Given the description of an element on the screen output the (x, y) to click on. 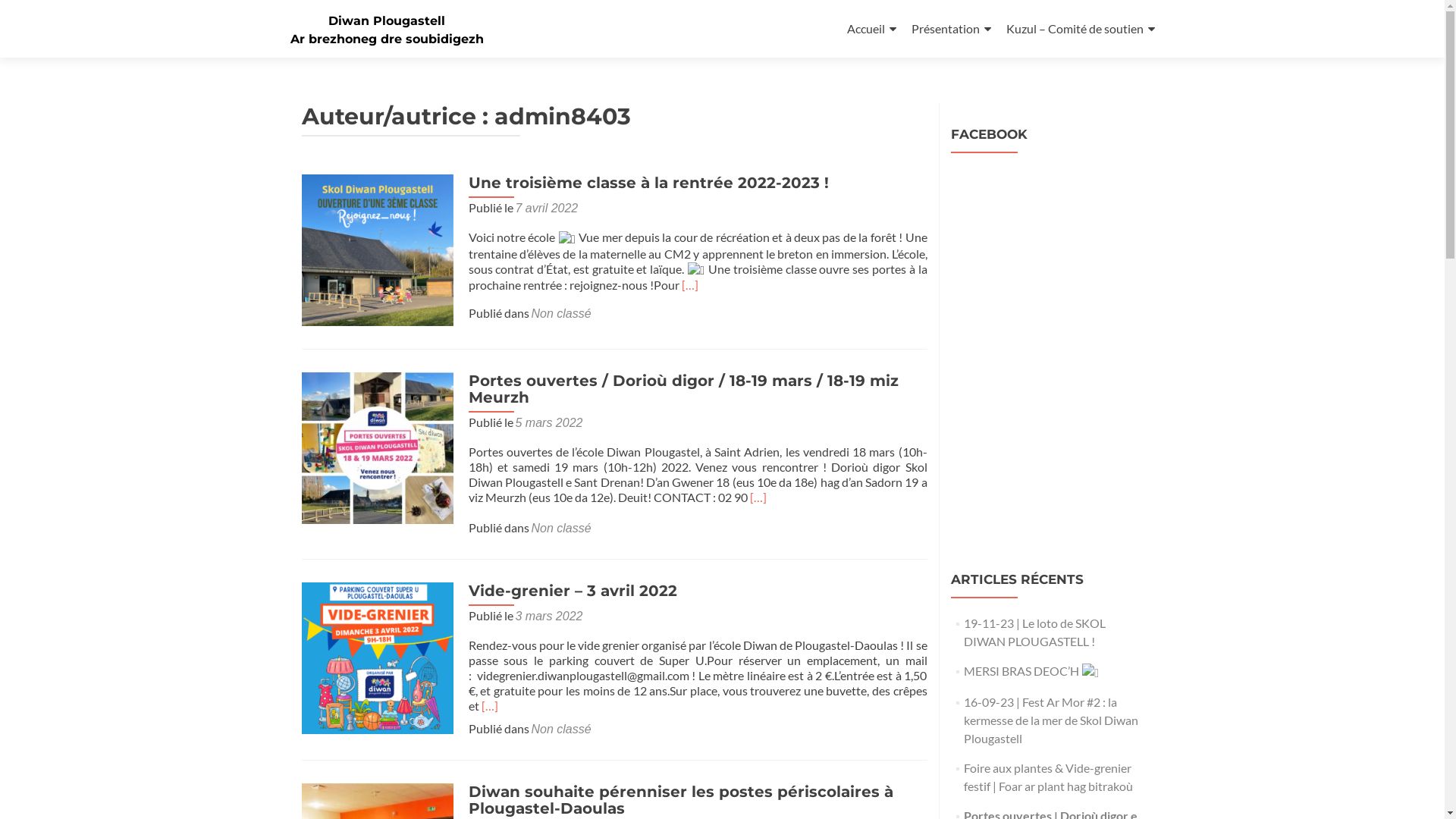
Diwan Plougastell Element type: text (386, 20)
Accueil Element type: text (870, 28)
19-11-23 | Le loto de SKOL DIWAN PLOUGASTELL ! Element type: text (1034, 631)
3 mars 2022 Element type: text (549, 615)
5 mars 2022 Element type: text (549, 422)
7 avril 2022 Element type: text (546, 207)
